Given the description of an element on the screen output the (x, y) to click on. 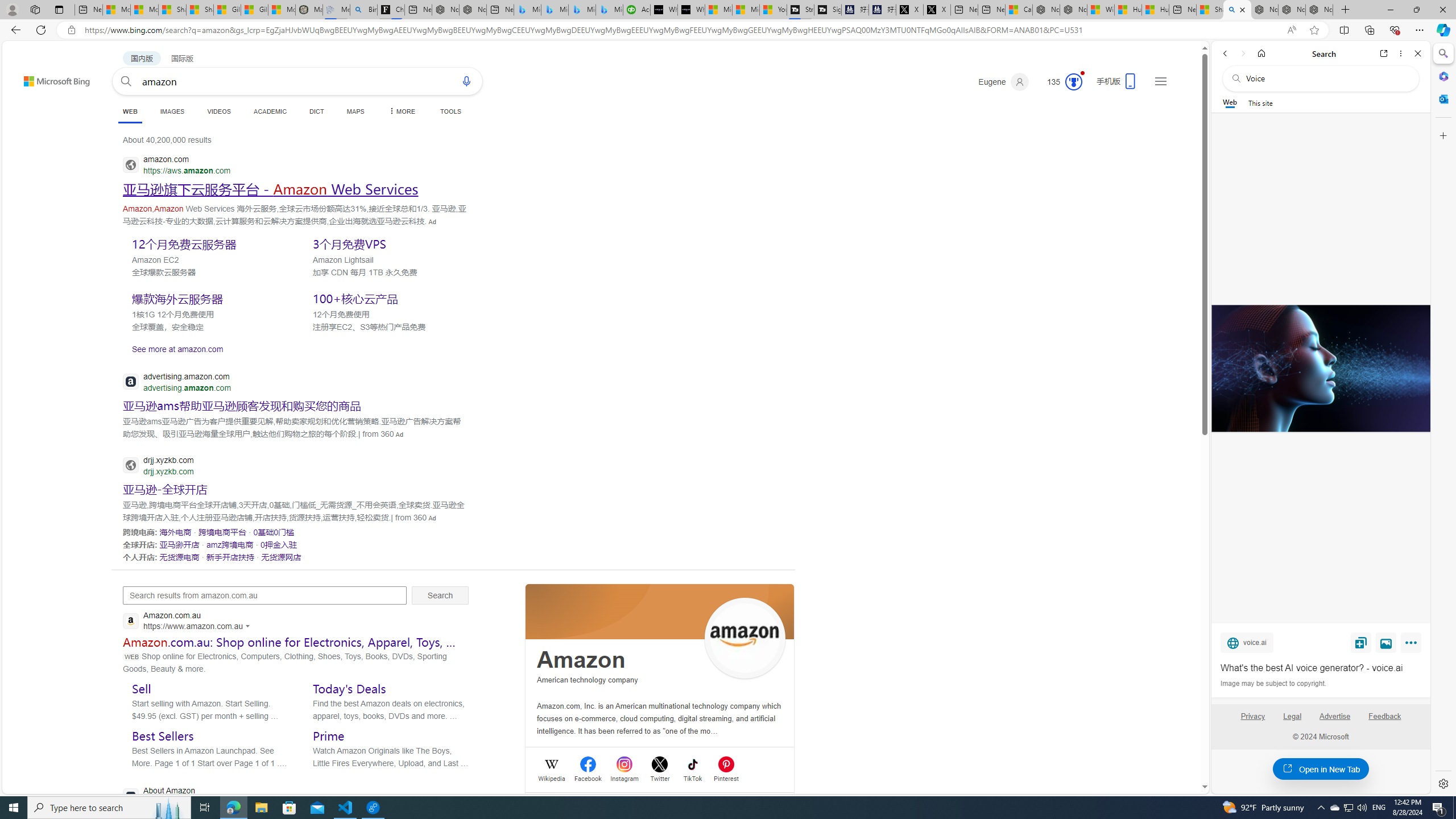
Settings and quick links (1160, 80)
AutomationID: mfa_root (1161, 752)
TikTok (692, 777)
Minimize (1390, 9)
X (936, 9)
SERP,5574 (280, 556)
Chloe Sorvino (390, 9)
SERP,5564 (165, 488)
SERP,5572 (178, 556)
SERP,5566 (175, 532)
Microsoft Start Sports (718, 9)
SERP,5547 (270, 189)
DICT (316, 111)
Amazon (581, 659)
